Given the description of an element on the screen output the (x, y) to click on. 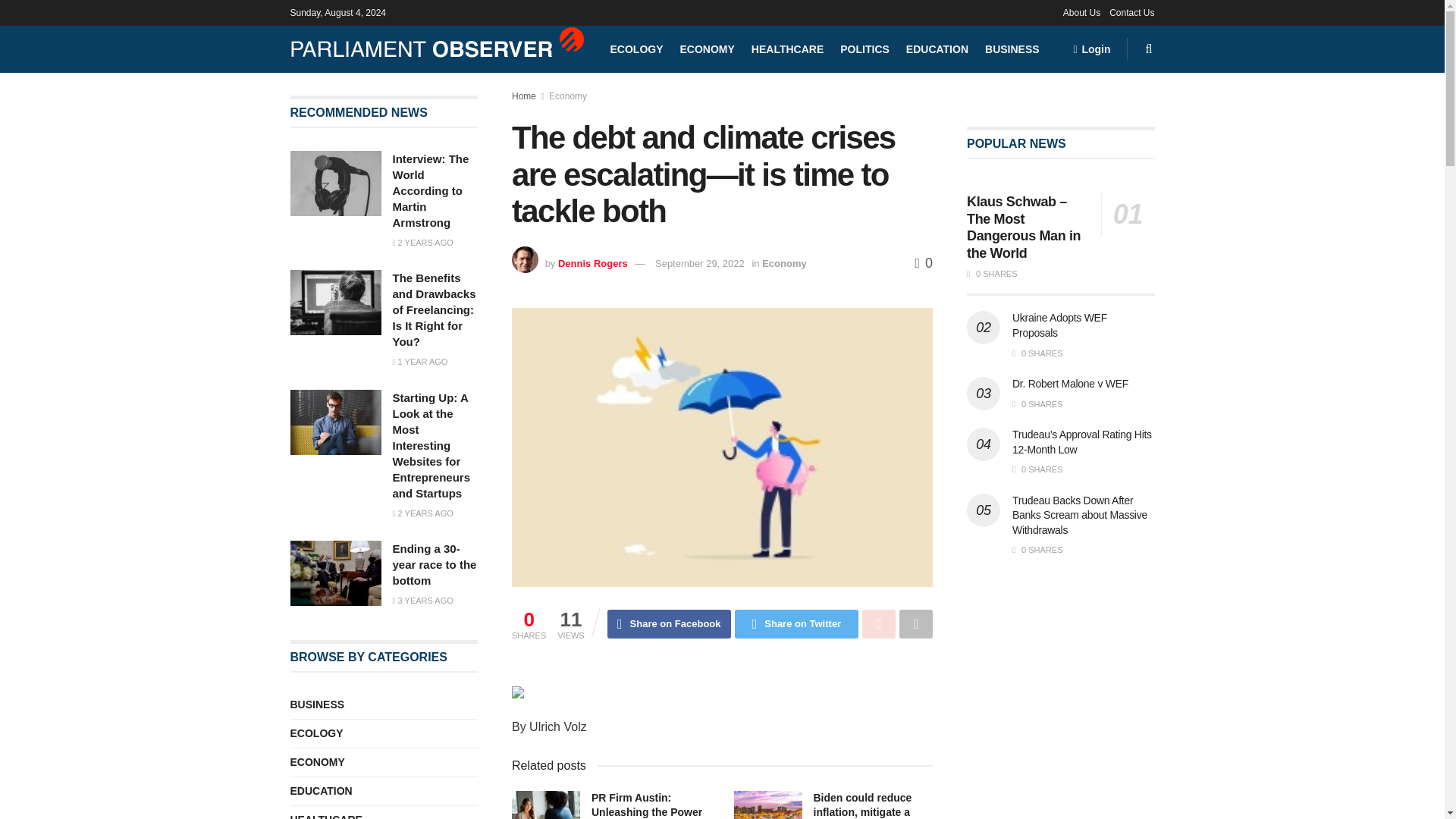
ECONOMY (707, 48)
Economy (783, 263)
Contact Us (1131, 12)
POLITICS (864, 48)
Home (523, 95)
ECOLOGY (636, 48)
EDUCATION (936, 48)
HEALTHCARE (787, 48)
BUSINESS (1012, 48)
About Us (1081, 12)
Economy (567, 95)
Share on Facebook (668, 623)
September 29, 2022 (699, 263)
